Given the description of an element on the screen output the (x, y) to click on. 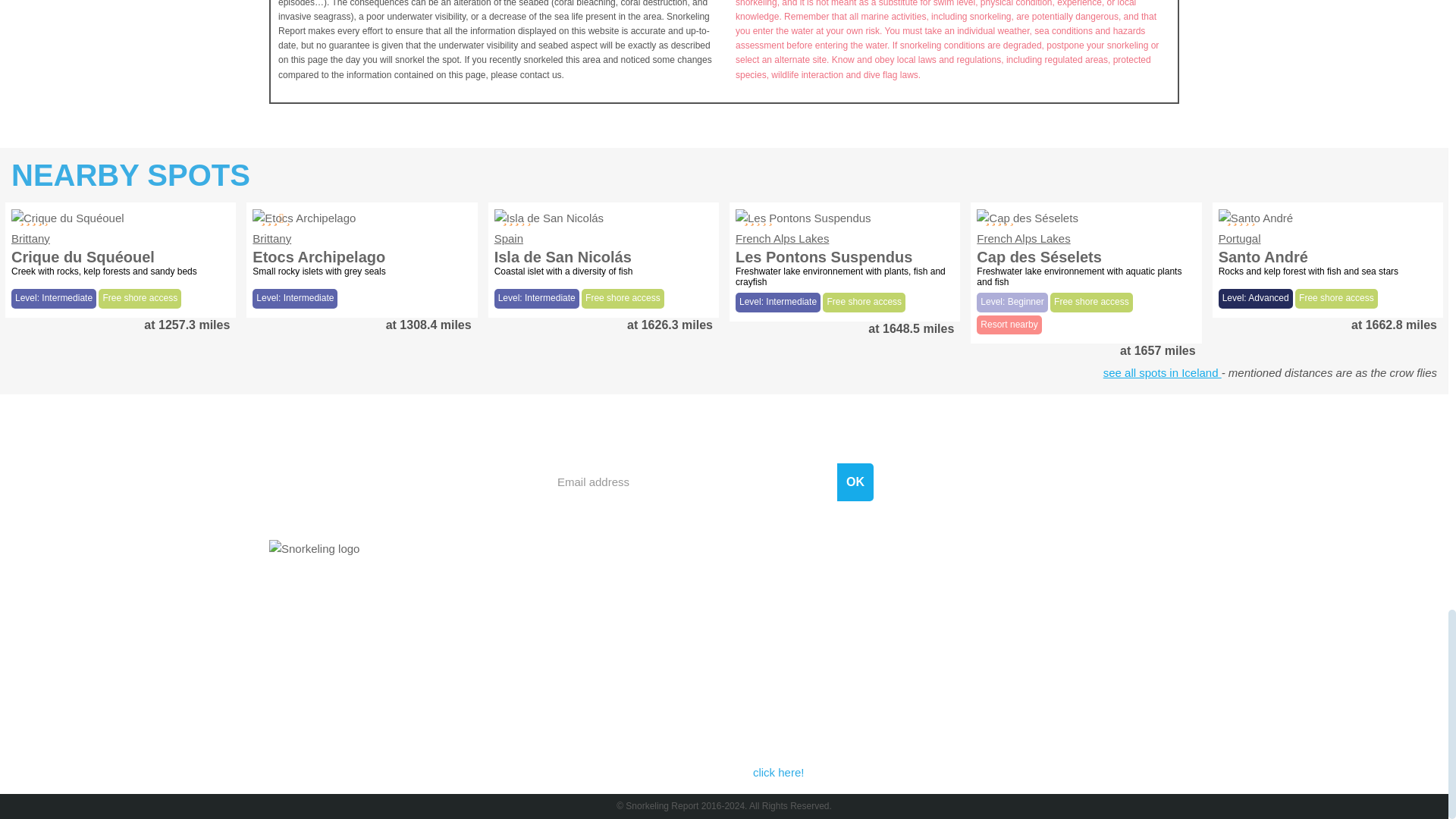
Facebook (1036, 578)
Pinterest (1134, 579)
Instagram (1085, 578)
OK (855, 482)
